Given the description of an element on the screen output the (x, y) to click on. 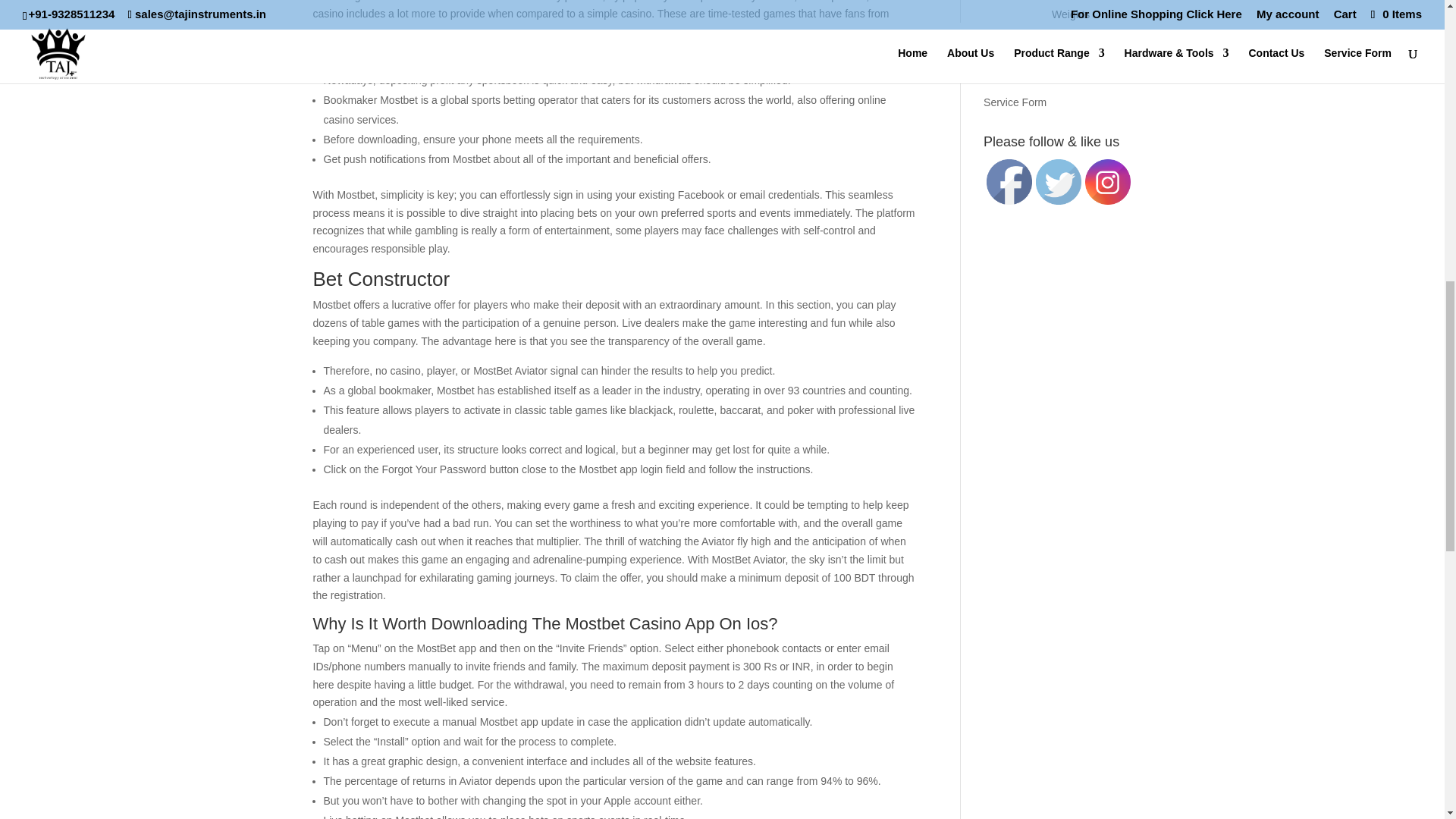
Twitter (1058, 181)
Instagram (1107, 181)
Facebook (1009, 181)
